Given the description of an element on the screen output the (x, y) to click on. 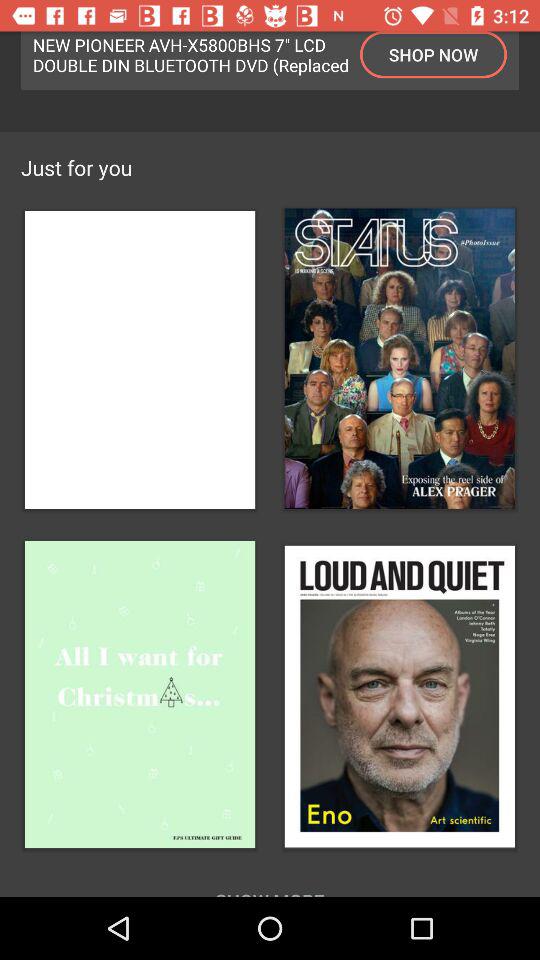
open the shop now (433, 54)
